Given the description of an element on the screen output the (x, y) to click on. 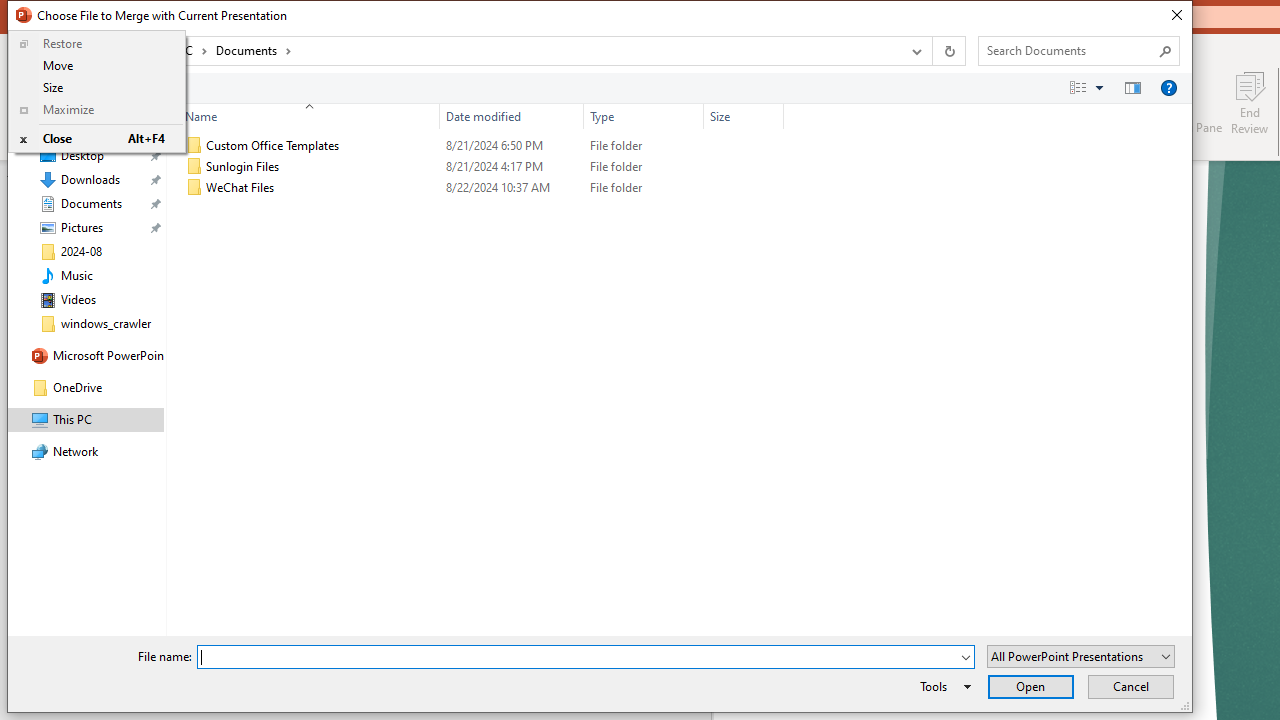
Name (303, 115)
Preview pane (1132, 87)
Class: UIImage (194, 187)
Sunlogin Files (480, 166)
New folder (145, 87)
Up to "This PC" (Alt + Up Arrow) (100, 52)
Name (321, 187)
Address band toolbar (931, 51)
&Help (1168, 87)
Size (97, 88)
Move (97, 65)
Up band toolbar (100, 54)
Navigation buttons (50, 51)
Refresh "Documents" (F5) (948, 51)
